Given the description of an element on the screen output the (x, y) to click on. 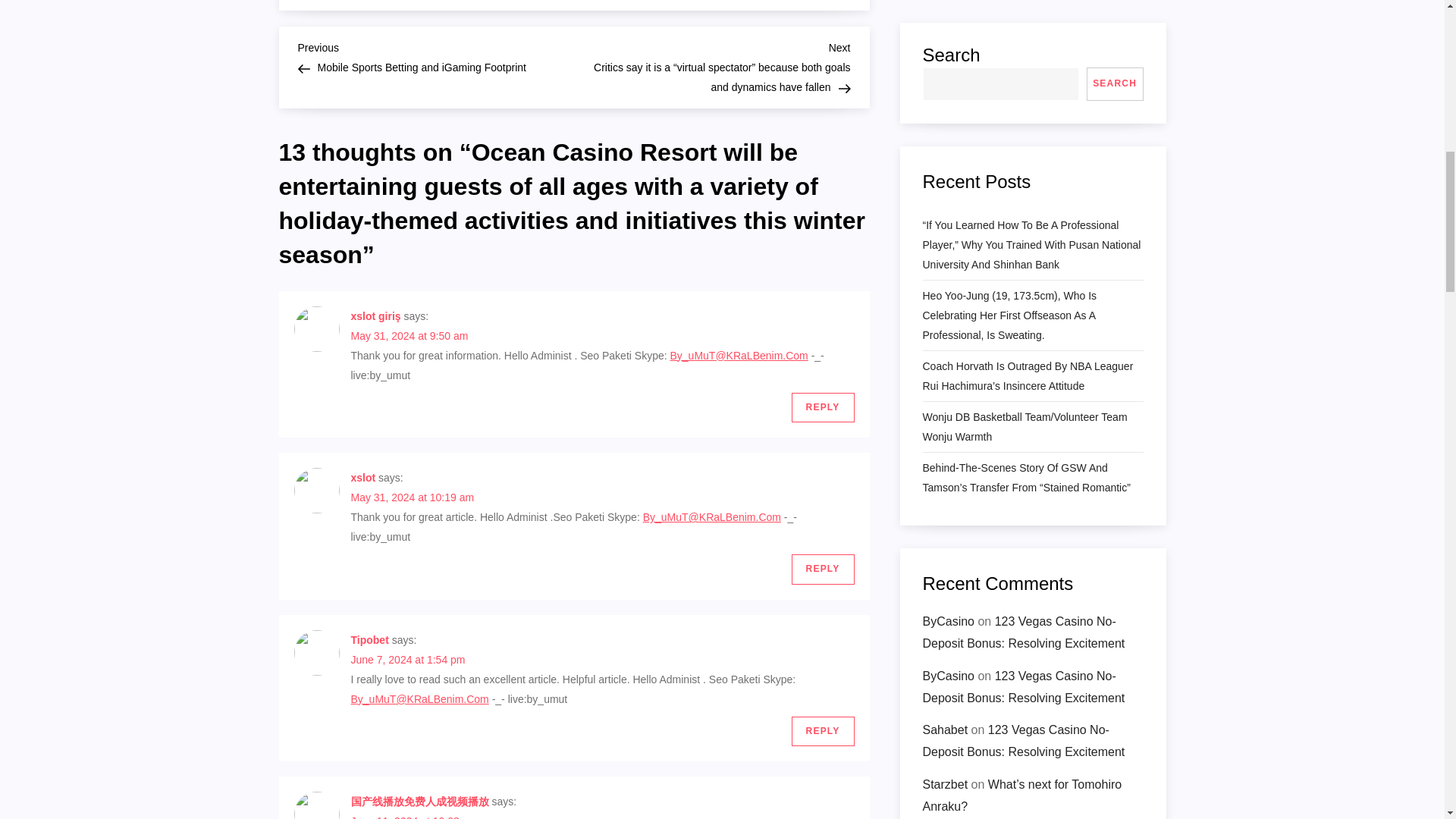
June 11, 2024 at 10:03 am (413, 816)
REPLY (823, 731)
REPLY (823, 569)
REPLY (823, 408)
May 31, 2024 at 9:50 am (408, 336)
June 7, 2024 at 1:54 pm (407, 659)
May 31, 2024 at 10:19 am (412, 497)
xslot (362, 477)
Tipobet (369, 639)
